Given the description of an element on the screen output the (x, y) to click on. 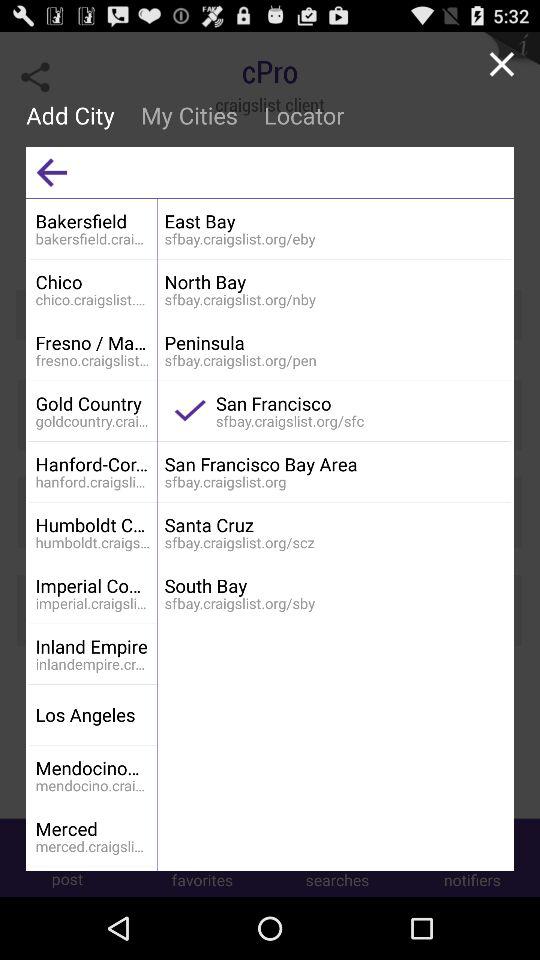
turn off the app below sfbay.craigslist.org app (334, 524)
